Given the description of an element on the screen output the (x, y) to click on. 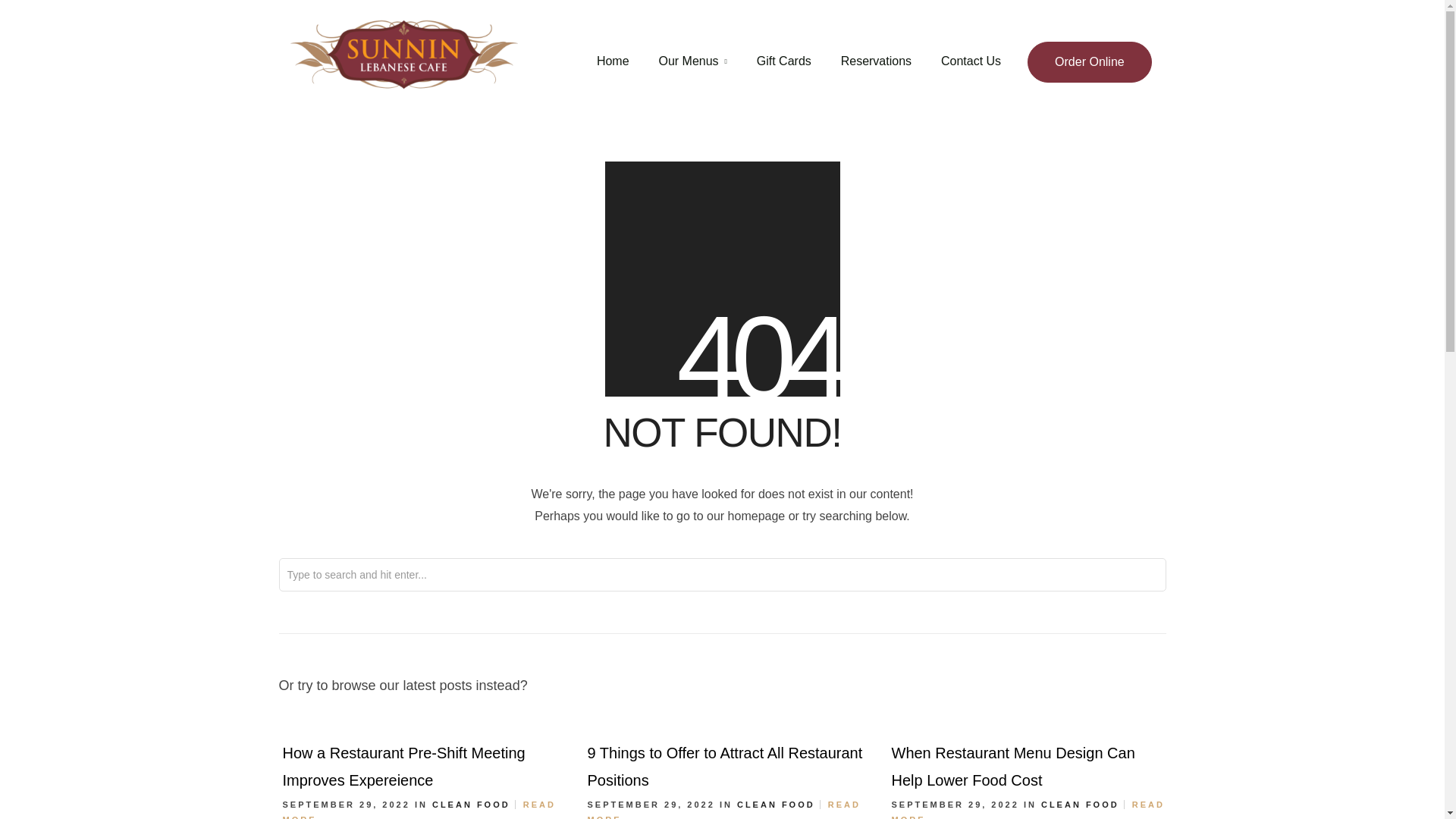
9 Things to Offer to Attract All Restaurant Positions (723, 766)
Our Menus (692, 61)
Contact Us (970, 61)
Order Online (1089, 61)
How a Restaurant Pre-Shift Meeting Improves Expereience (403, 766)
9 Things to Offer to Attract All Restaurant Positions (723, 766)
READ MORE (1027, 809)
CLEAN FOOD (471, 804)
READ MORE (723, 809)
When Restaurant Menu Design Can Help Lower Food Cost (1013, 766)
READ MORE (418, 809)
Reservations (876, 61)
Home (612, 61)
How a Restaurant Pre-Shift Meeting Improves Expereience (403, 766)
When Restaurant Menu Design Can Help Lower Food Cost (1013, 766)
